Given the description of an element on the screen output the (x, y) to click on. 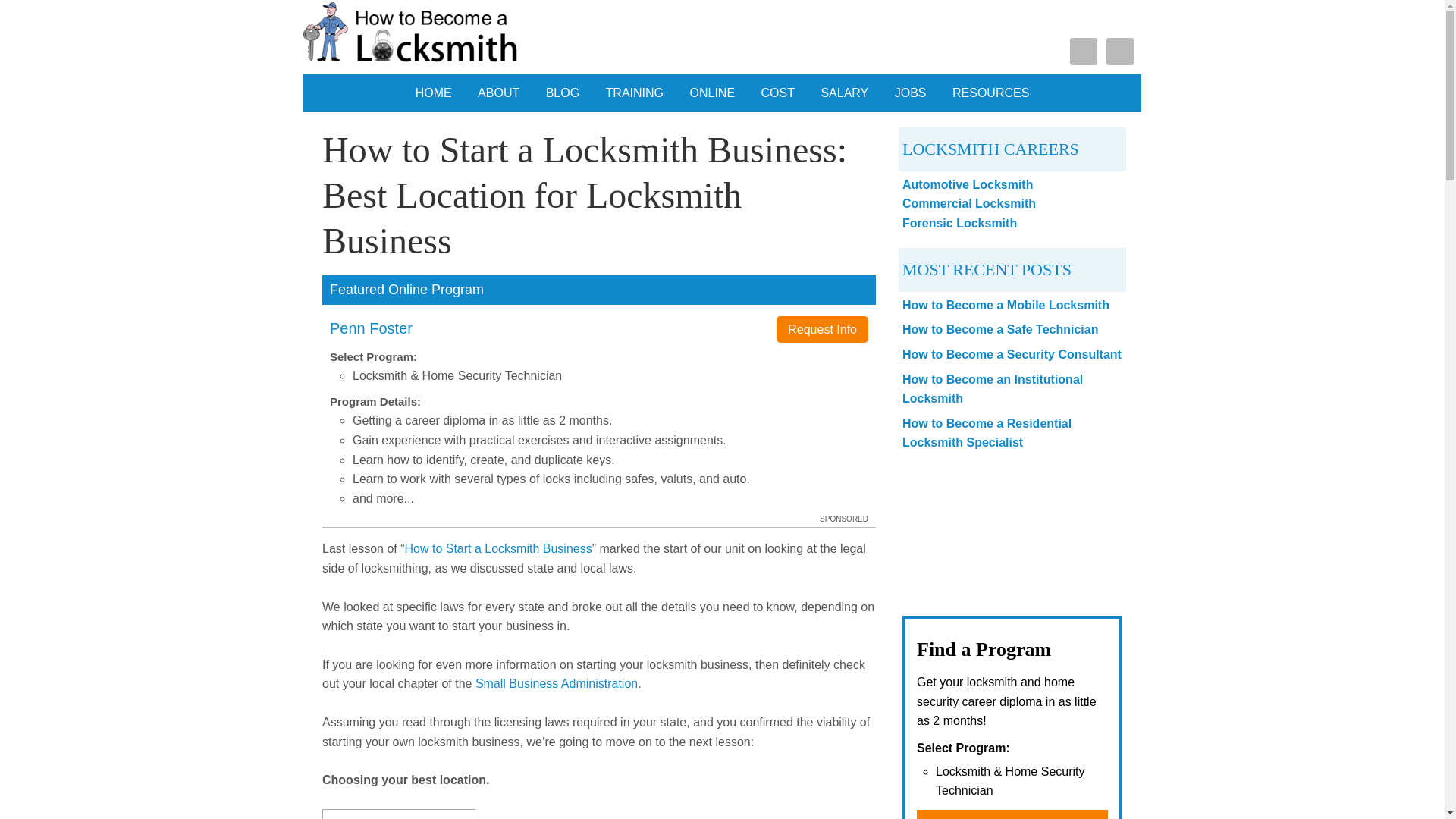
ONLINE (711, 93)
HOME (433, 93)
ABOUT (498, 93)
BLOG (562, 93)
How to Start a Locksmith Business (498, 548)
COST (777, 93)
RESOURCES (990, 93)
SALARY (844, 93)
Request Info (821, 329)
Automotive Locksmith (967, 183)
Small Business Administration (556, 683)
TRAINING (634, 93)
Penn Foster (371, 328)
JOBS (910, 93)
